Given the description of an element on the screen output the (x, y) to click on. 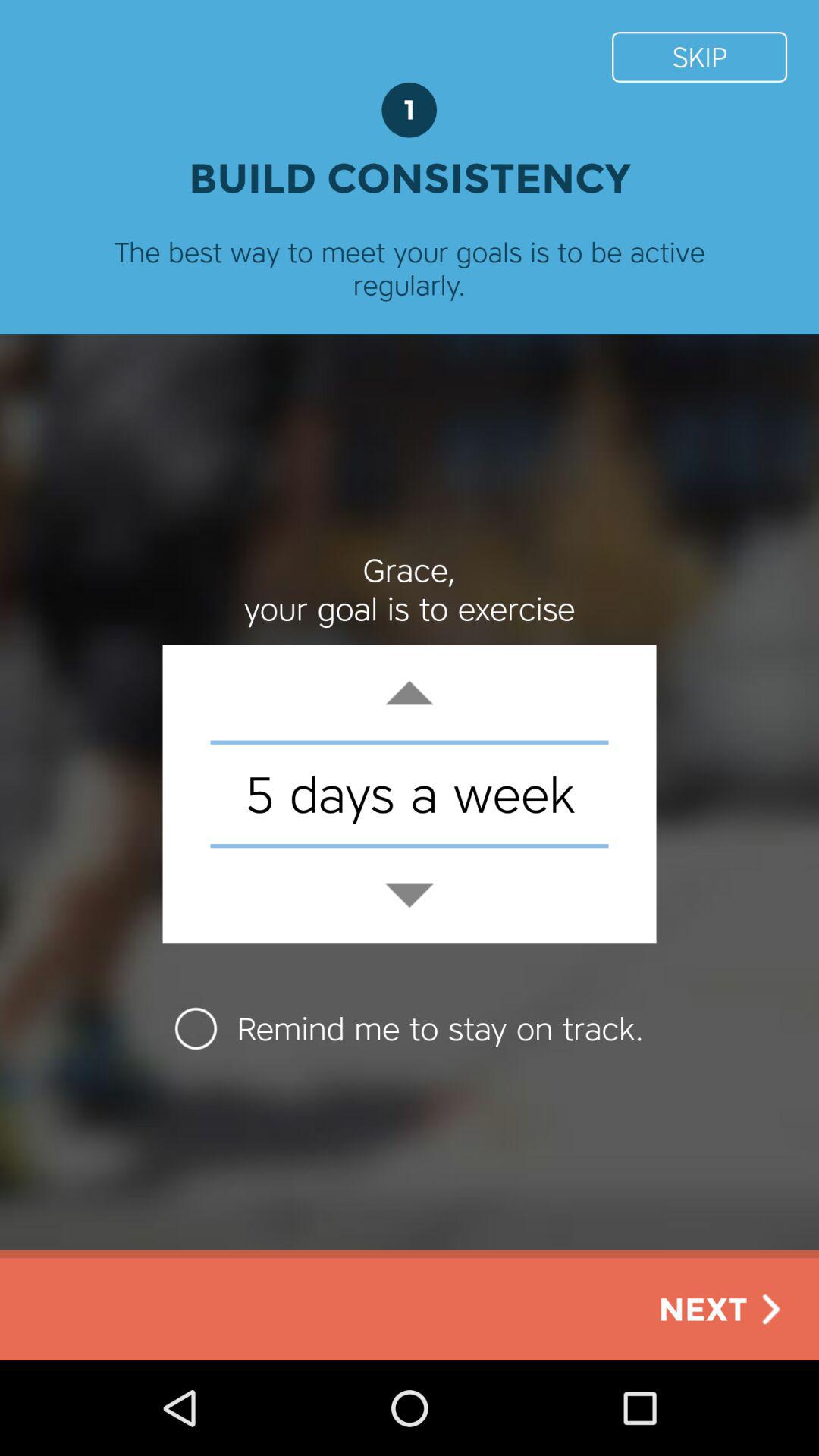
press the icon next to 1 item (699, 56)
